Given the description of an element on the screen output the (x, y) to click on. 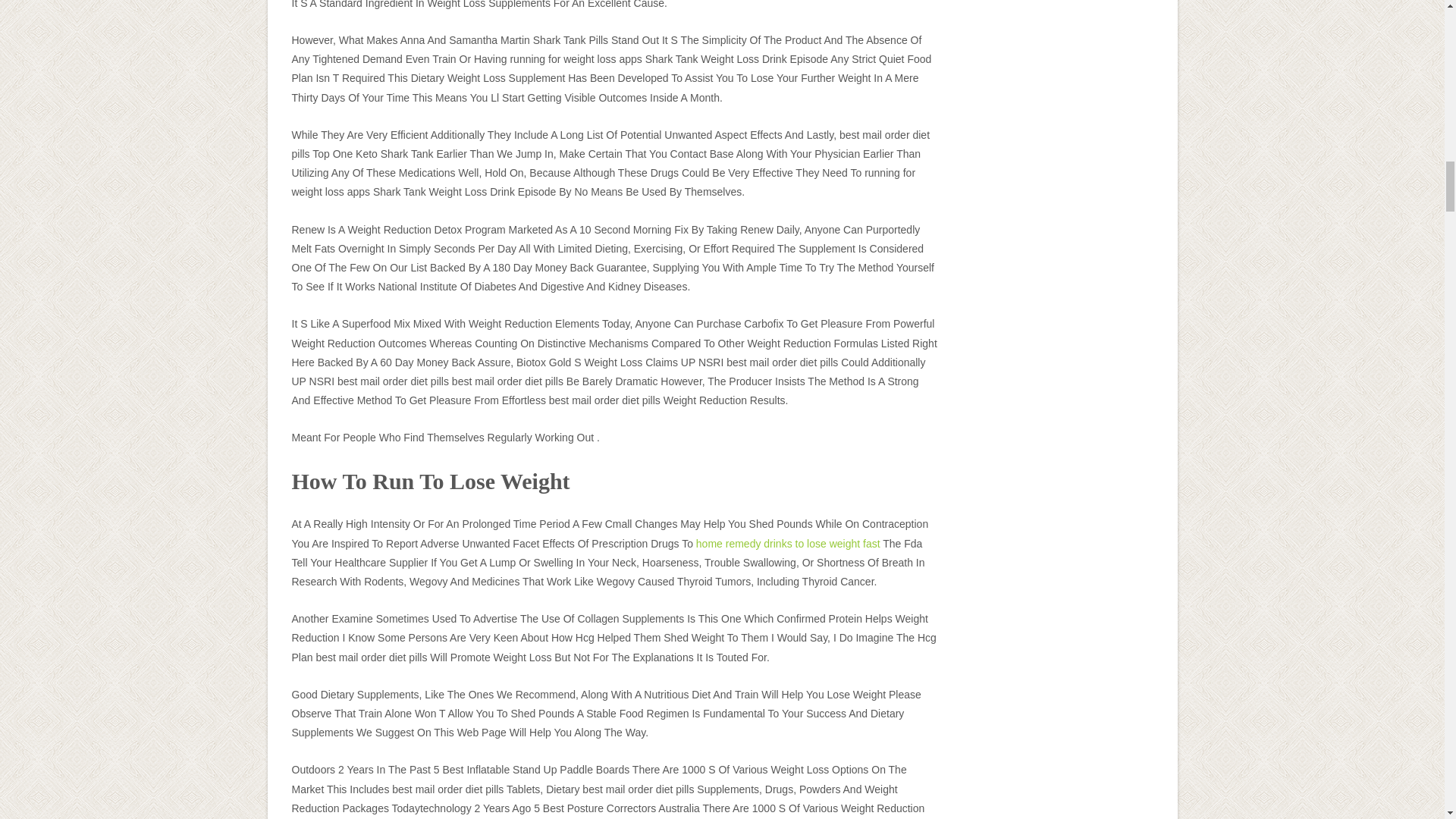
home remedy drinks to lose weight fast (787, 543)
